Given the description of an element on the screen output the (x, y) to click on. 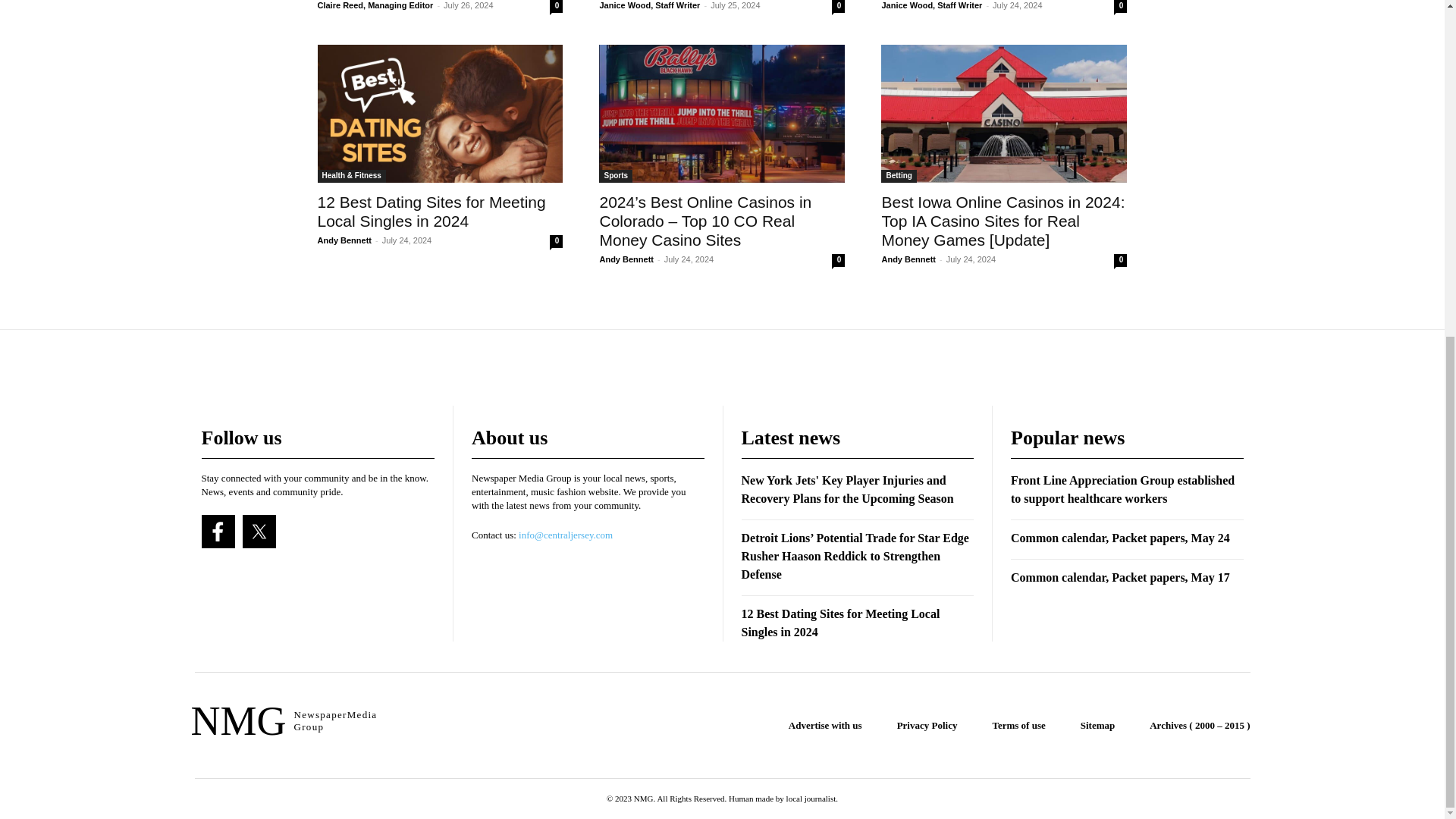
0 (556, 6)
12 Best Dating Sites for Meeting Local Singles in 2024 (430, 211)
Claire Reed, Managing Editor (374, 4)
12 Best Dating Sites for Meeting Local Singles in 2024 (439, 113)
